Given the description of an element on the screen output the (x, y) to click on. 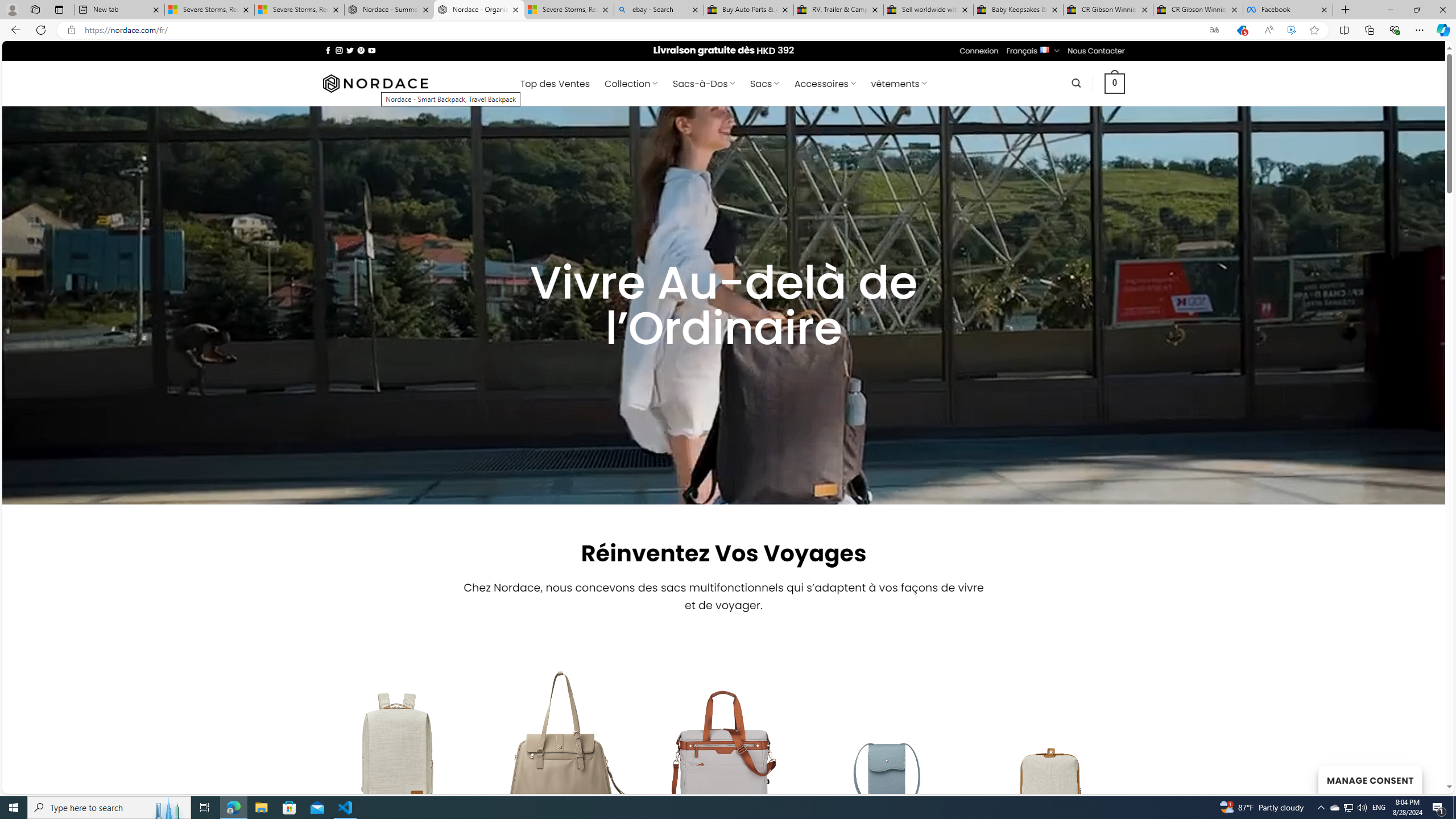
Enhance video (1291, 29)
This site has coupons! Shopping in Microsoft Edge, 5 (1241, 29)
Nous suivre sur Instagram (338, 49)
Recherche (1076, 83)
Nous suivre sur Pinterest (360, 49)
